Given the description of an element on the screen output the (x, y) to click on. 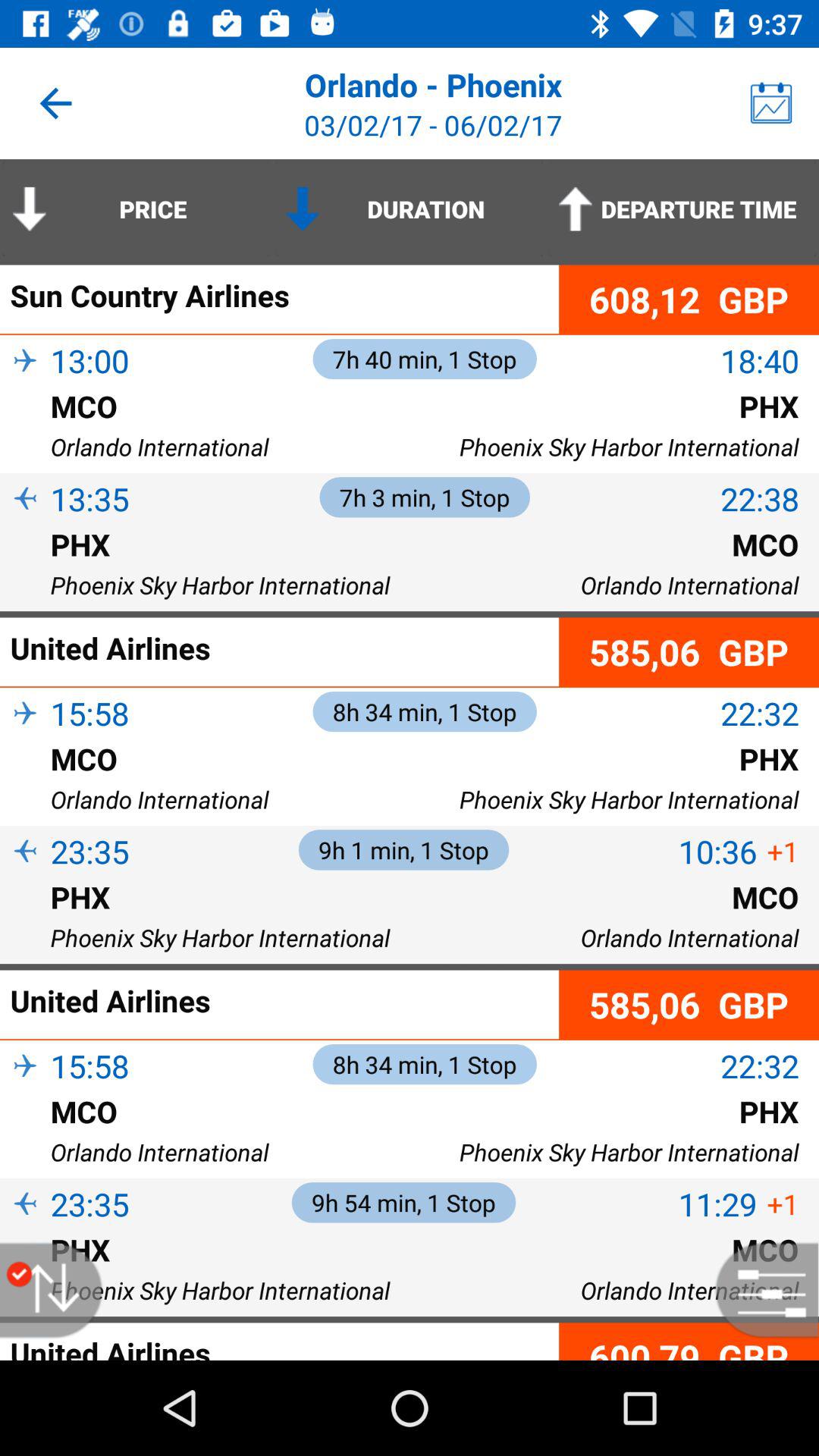
click the item next to the orlando - phoenix item (771, 103)
